Given the description of an element on the screen output the (x, y) to click on. 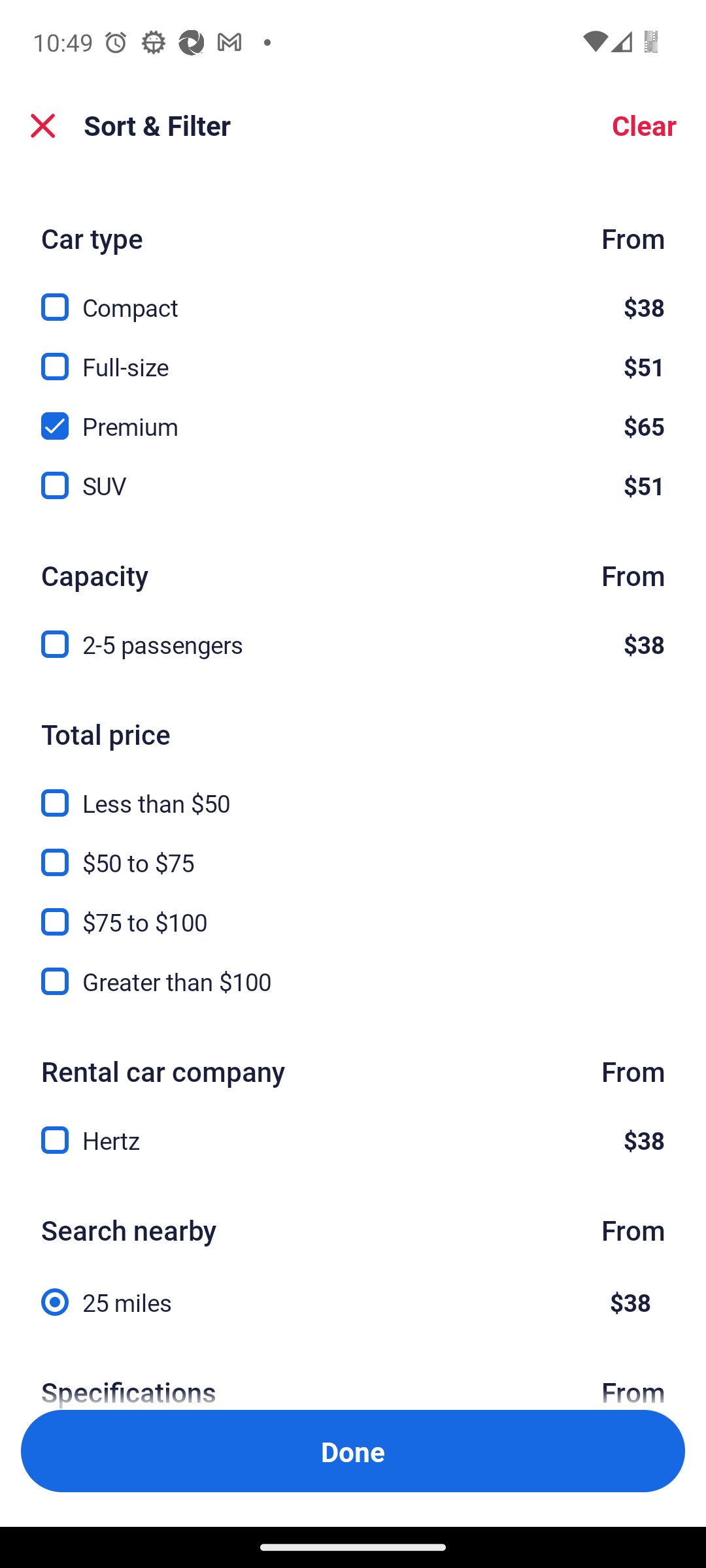
Clear (643, 125)
Close Sort and Filter (43, 125)
Compact, $38 Compact $38 (352, 296)
Full-size, $51 Full-size $51 (352, 355)
Premium, $65 Premium $65 (352, 415)
SUV, $51 SUV $51 (352, 485)
2-5 passengers, $38 2-5 passengers $38 (352, 644)
Less than $50, Less than $50 (352, 791)
$50 to $75, $50 to $75 (352, 851)
$75 to $100, $75 to $100 (352, 910)
Greater than $100, Greater than $100 (352, 981)
Hertz, $38 Hertz $38 (352, 1140)
Apply and close Sort and Filter Done (352, 1450)
